Given the description of an element on the screen output the (x, y) to click on. 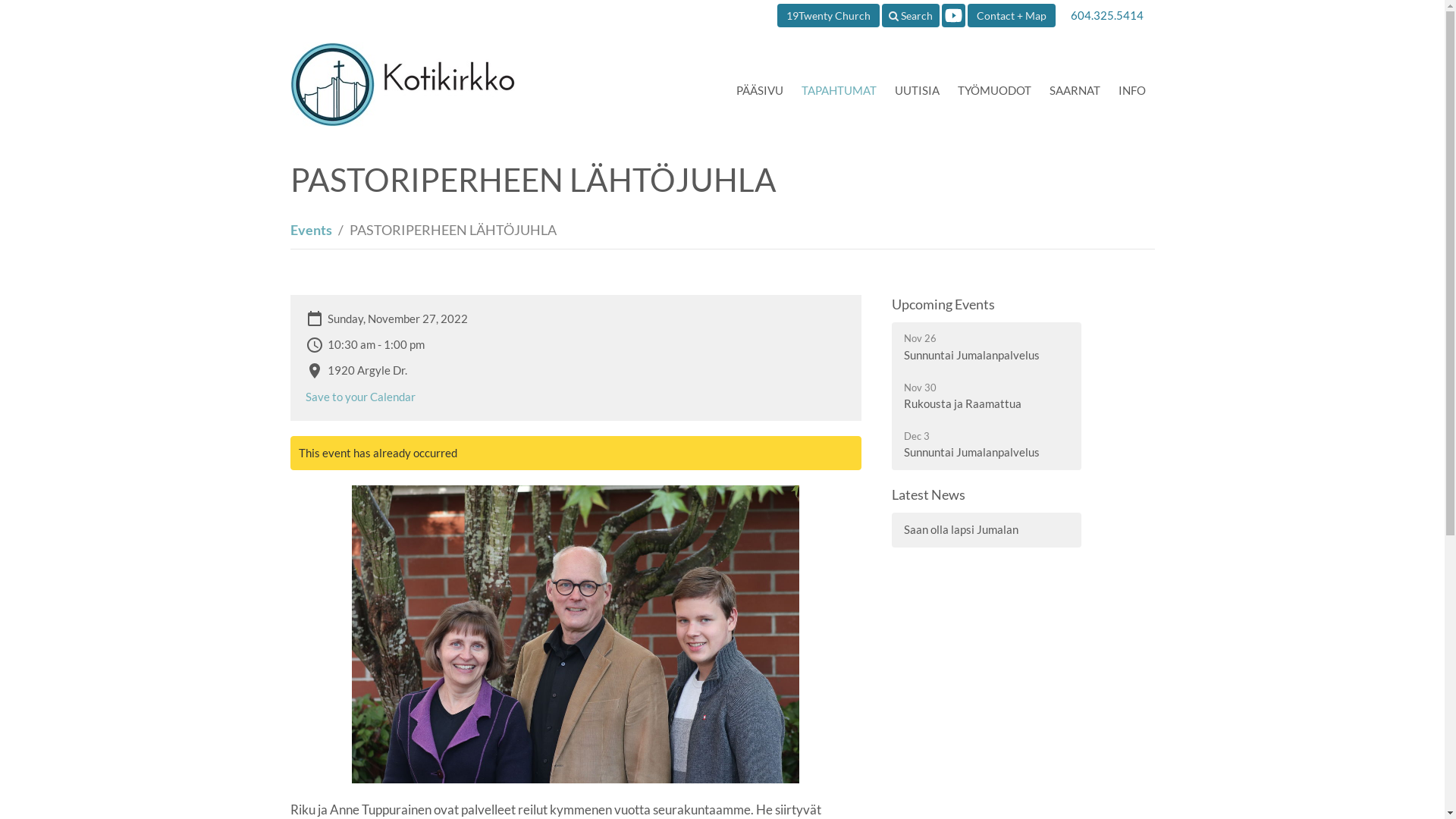
Events Element type: text (310, 229)
Nov 26
Sunnuntai Jumalanpalvelus Element type: text (986, 346)
Contact + Map Element type: text (1011, 15)
Search Element type: text (909, 15)
Save to your Calendar Element type: text (359, 396)
Dec 3
Sunnuntai Jumalanpalvelus Element type: text (986, 444)
UUTISIA Element type: text (916, 90)
TAPAHTUMAT Element type: text (837, 90)
Upcoming Events Element type: text (942, 303)
SAARNAT Element type: text (1074, 90)
Nov 30
Rukousta ja Raamattua Element type: text (986, 395)
604.325.5414 Element type: text (1106, 15)
INFO Element type: text (1131, 90)
19Twenty Church Element type: text (827, 15)
Latest News Element type: text (928, 494)
Saan olla lapsi Jumalan Element type: text (986, 529)
